Given the description of an element on the screen output the (x, y) to click on. 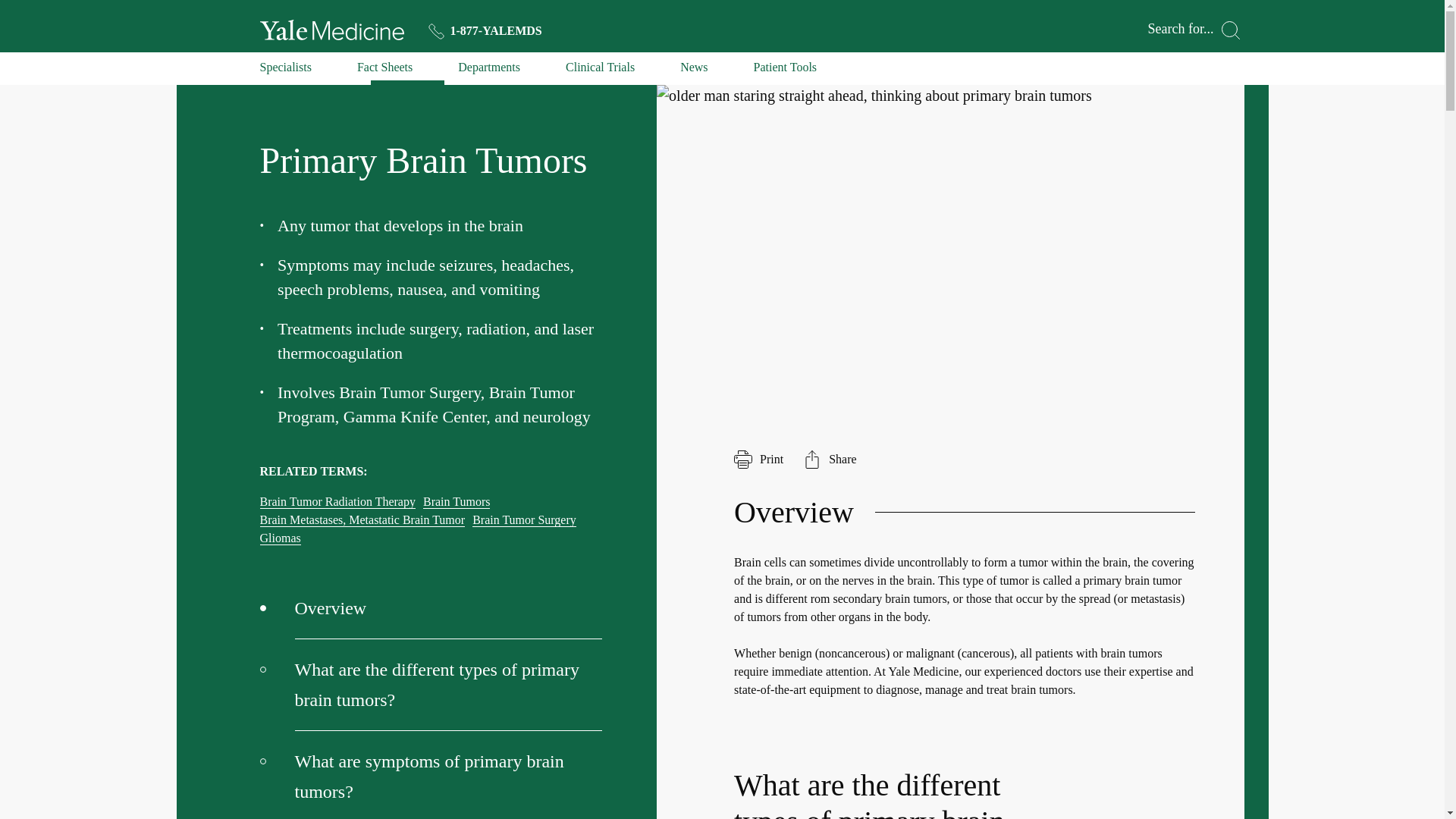
Brain Tumor Radiation Therapy (336, 501)
Search for (1193, 31)
Brain Tumor Surgery (523, 520)
1-877-YALEMDS (484, 31)
Patient Tools (785, 71)
Departments (488, 71)
Gliomas (279, 538)
News (693, 71)
Fact Sheets (384, 71)
What are symptoms of primary brain tumors? (430, 775)
Share (829, 459)
Print (758, 459)
Clinical Trials (600, 71)
Brain Tumors (456, 501)
What are the different types of primary brain tumors? (430, 685)
